Given the description of an element on the screen output the (x, y) to click on. 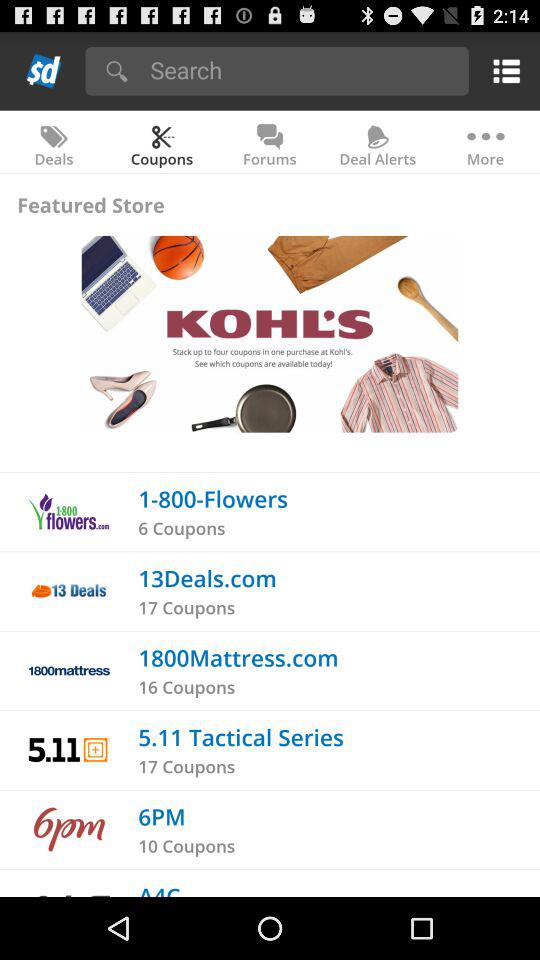
turn on the item above the 13deals.com icon (181, 527)
